Given the description of an element on the screen output the (x, y) to click on. 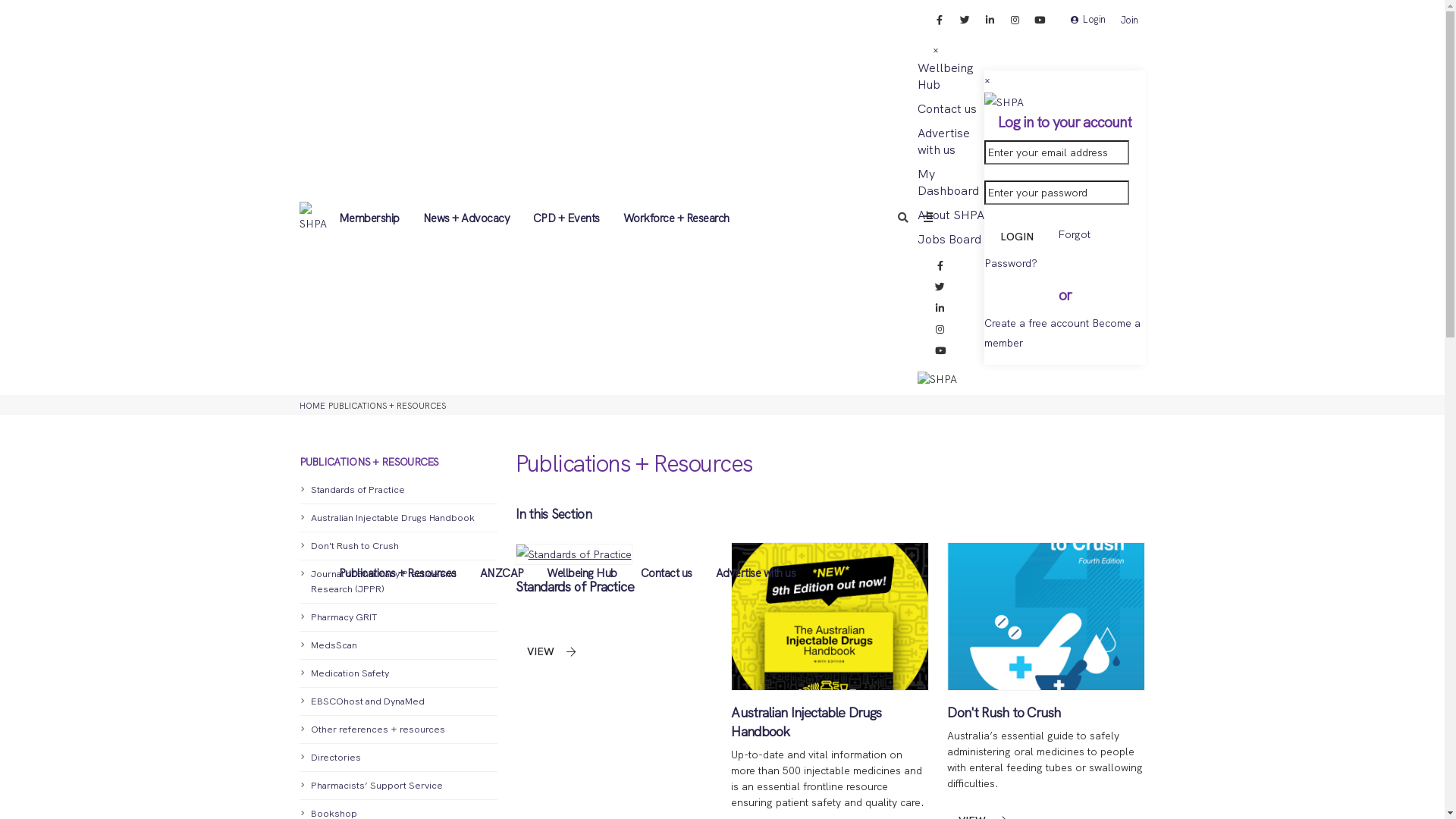
Become a member Element type: text (1062, 332)
Twitter Element type: hover (964, 19)
Publications + Resources Element type: text (397, 572)
Journal of Pharmacy Practice and Research (JPPR) Element type: text (397, 581)
Other references + resources Element type: text (397, 729)
Linkedin Element type: hover (989, 19)
Twitter Element type: hover (939, 287)
Linkedin Element type: hover (939, 308)
Forgot Password? Element type: text (1037, 248)
News + Advocacy Element type: text (465, 217)
Wellbeing Hub Element type: text (945, 75)
Facebook Element type: hover (939, 265)
Join Element type: text (1129, 20)
Contact us Element type: text (665, 572)
About SHPA Element type: text (950, 214)
LOGIN Element type: text (1019, 236)
Medication Safety Element type: text (397, 673)
Membership Element type: text (368, 217)
Australian Injectable Drugs Handbook Element type: text (397, 518)
Pharmacy GRIT Element type: text (397, 617)
PUBLICATIONS + RESOURCES Element type: text (397, 452)
Login Element type: text (1088, 19)
Directories Element type: text (397, 757)
Wellbeing Hub Element type: text (581, 572)
VIEW     Element type: text (550, 651)
HOME Element type: text (311, 405)
Don't Rush to Crush Element type: text (1003, 712)
Create a free account Element type: text (1036, 322)
Contact us Element type: text (946, 108)
Jobs Board Element type: text (949, 239)
Workforce + Research Element type: text (675, 217)
Standards of Practice Element type: text (397, 490)
Australian Injectable Drugs Handbook Element type: text (806, 721)
Advertise with us Element type: text (755, 572)
Instagram Element type: hover (939, 329)
YouTube Element type: hover (1039, 19)
Standards of Practice Element type: text (574, 586)
ANZCAP Element type: text (501, 572)
EBSCOhost and DynaMed Element type: text (397, 701)
Don't Rush to Crush Element type: text (397, 546)
MedsScan Element type: text (397, 645)
YouTube Element type: hover (939, 350)
My Dashboard Element type: text (948, 182)
Facebook Element type: hover (939, 19)
Instagram Element type: hover (1014, 19)
CPD + Events Element type: text (566, 217)
Advertise with us Element type: text (943, 141)
